Given the description of an element on the screen output the (x, y) to click on. 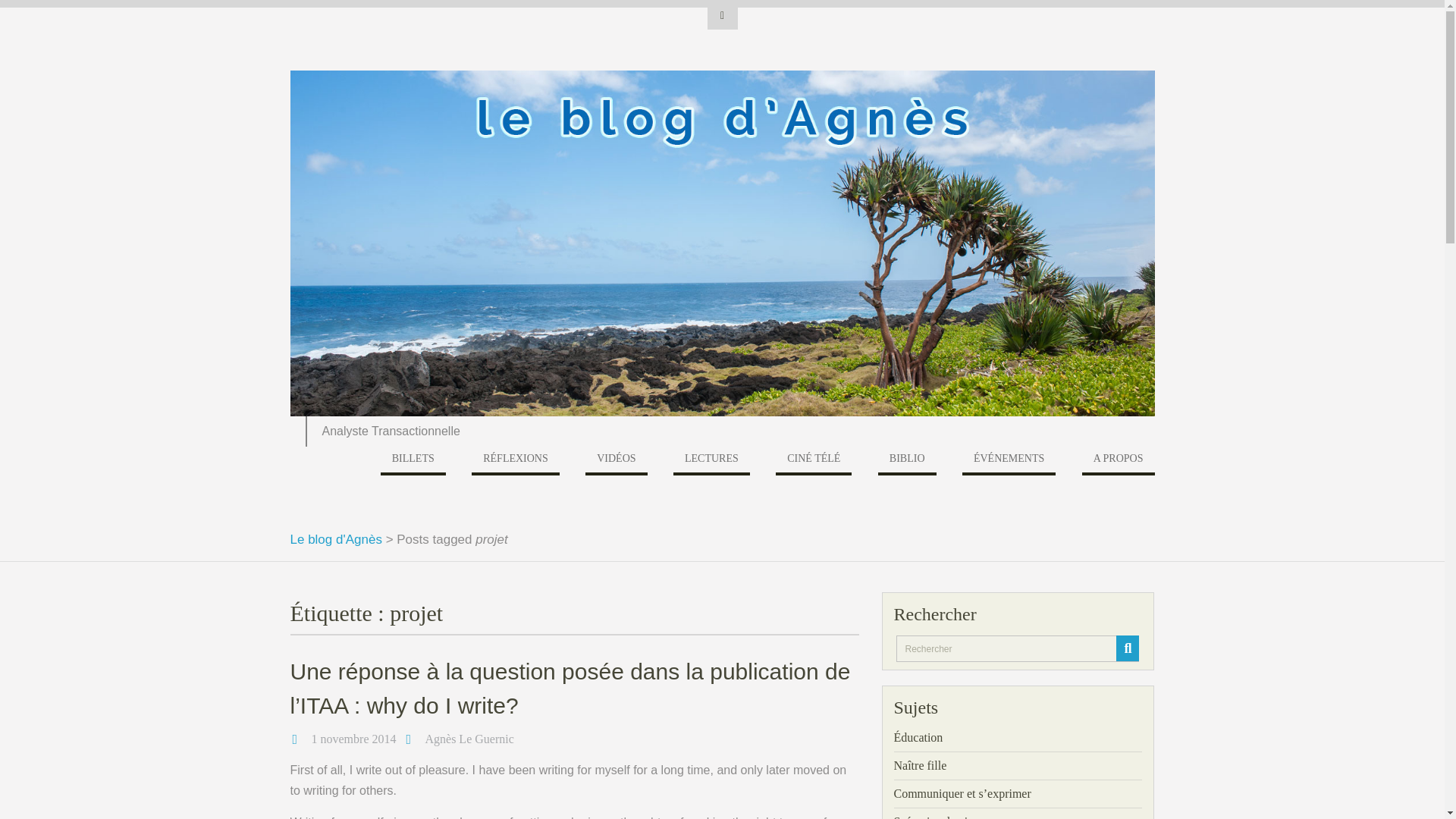
BILLETS (412, 461)
BIBLIO (906, 461)
Linkedin (722, 15)
1 novembre 2014 (353, 738)
A PROPOS (1117, 461)
LECTURES (710, 461)
